Given the description of an element on the screen output the (x, y) to click on. 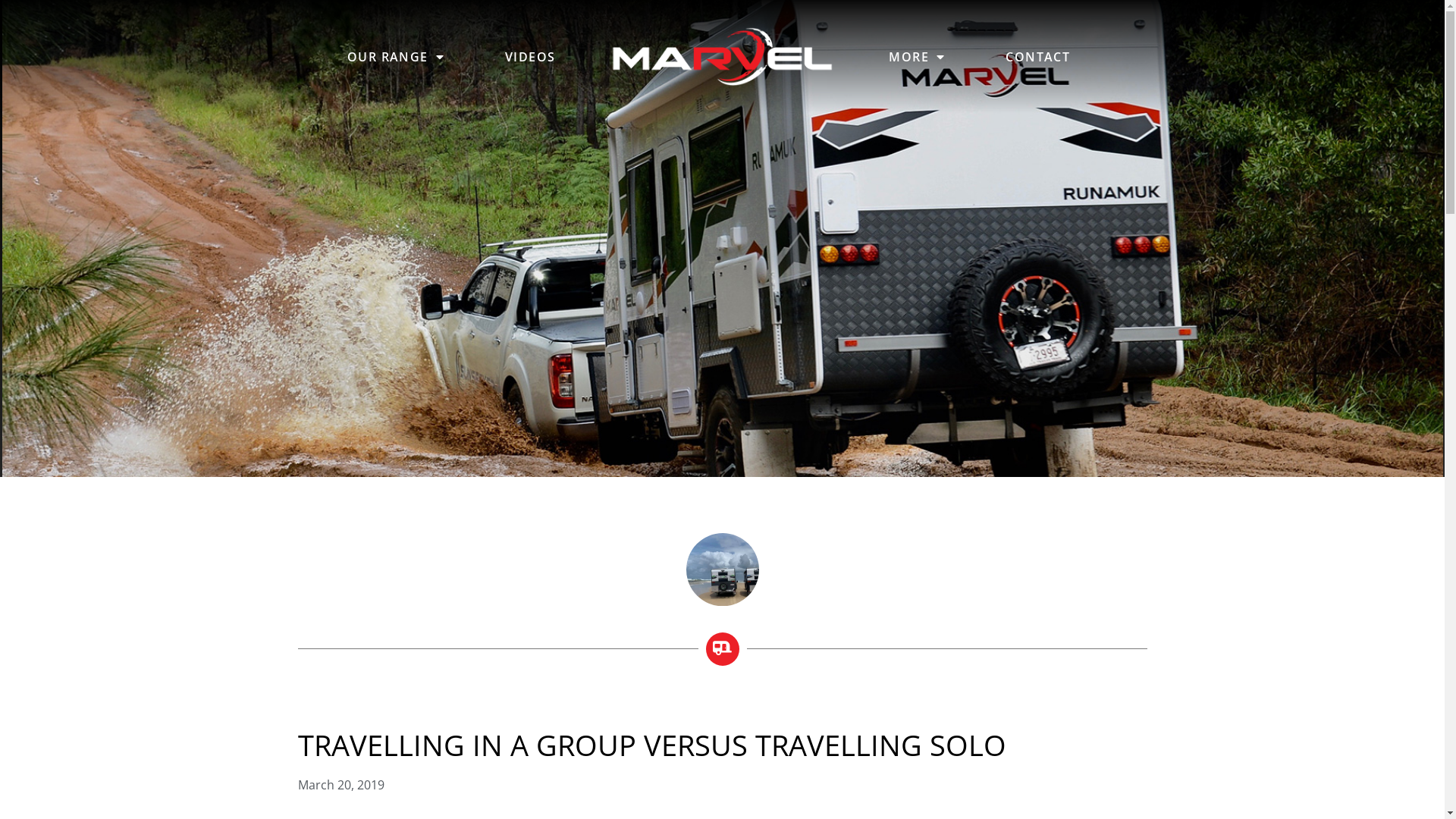
OUR RANGE Element type: text (395, 56)
March 20, 2019 Element type: text (340, 785)
VIDEOS Element type: text (529, 56)
MORE Element type: text (916, 56)
CONTACT Element type: text (1037, 56)
